Given the description of an element on the screen output the (x, y) to click on. 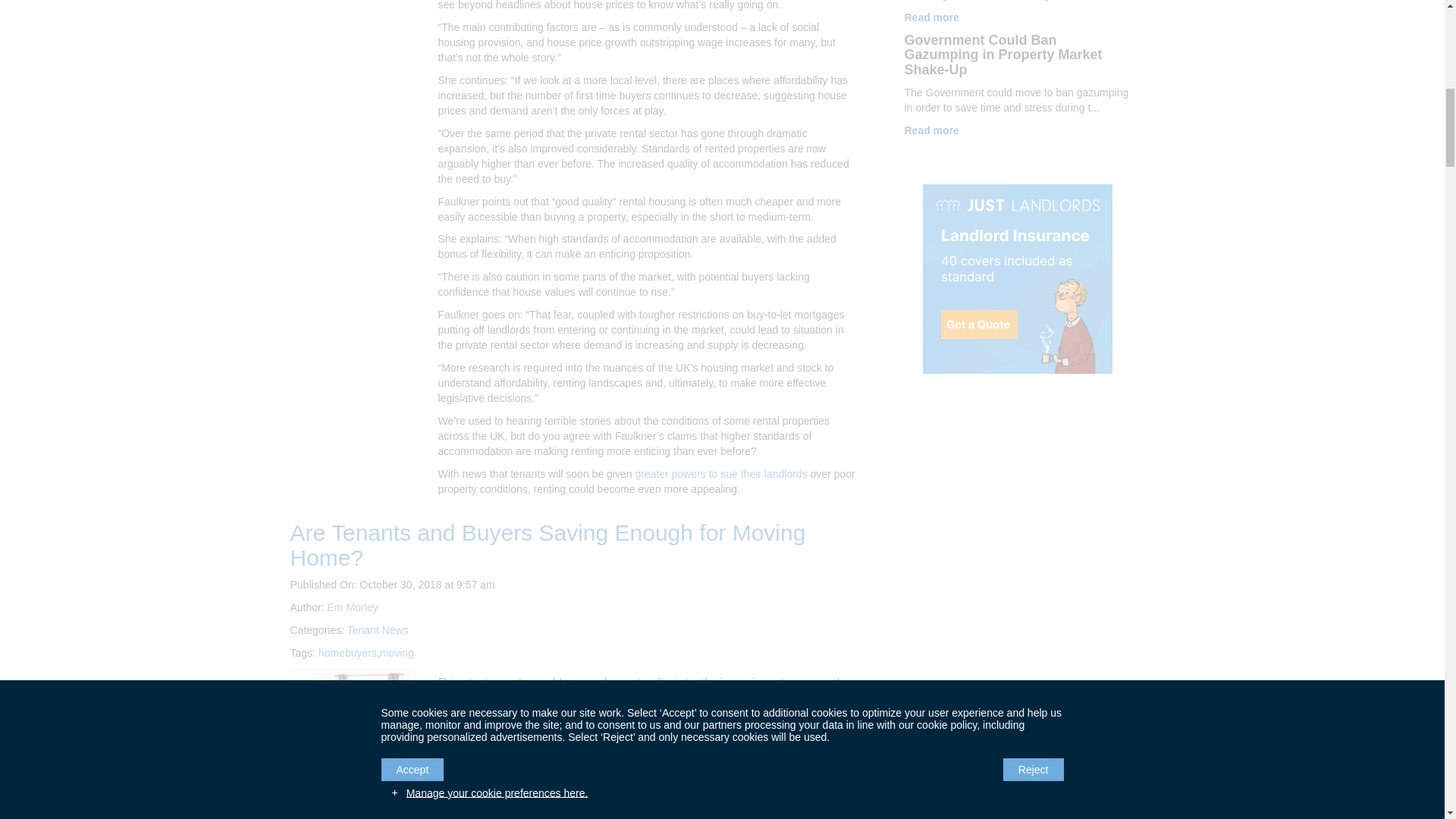
Posts by Em Morley (352, 607)
